Given the description of an element on the screen output the (x, y) to click on. 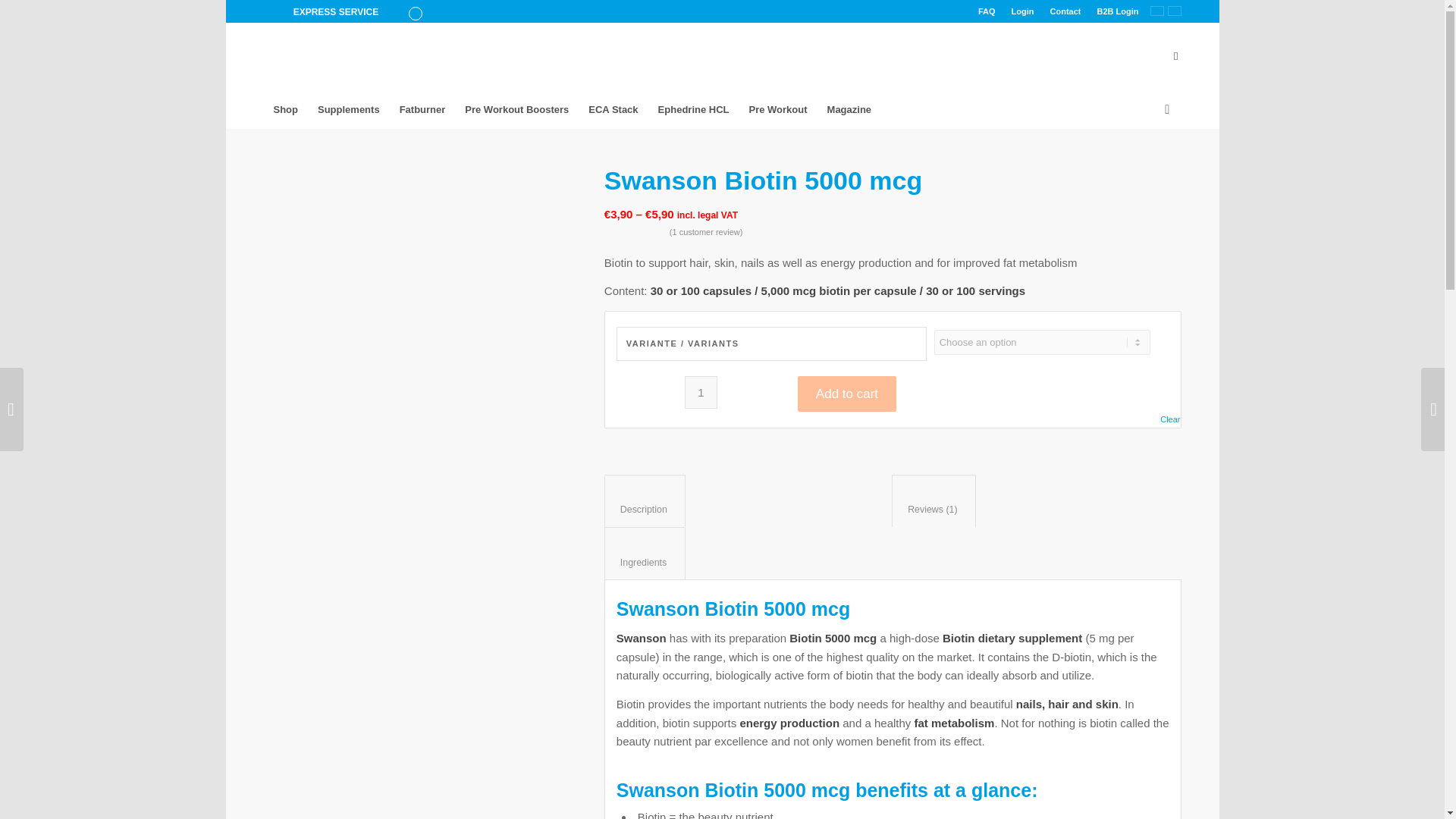
Shop (285, 109)
1 (700, 391)
ECA Stack (612, 109)
Fatburner (422, 109)
Ephedrin HCL (693, 109)
Pre Workout Booster (516, 109)
Supplements (348, 109)
